Given the description of an element on the screen output the (x, y) to click on. 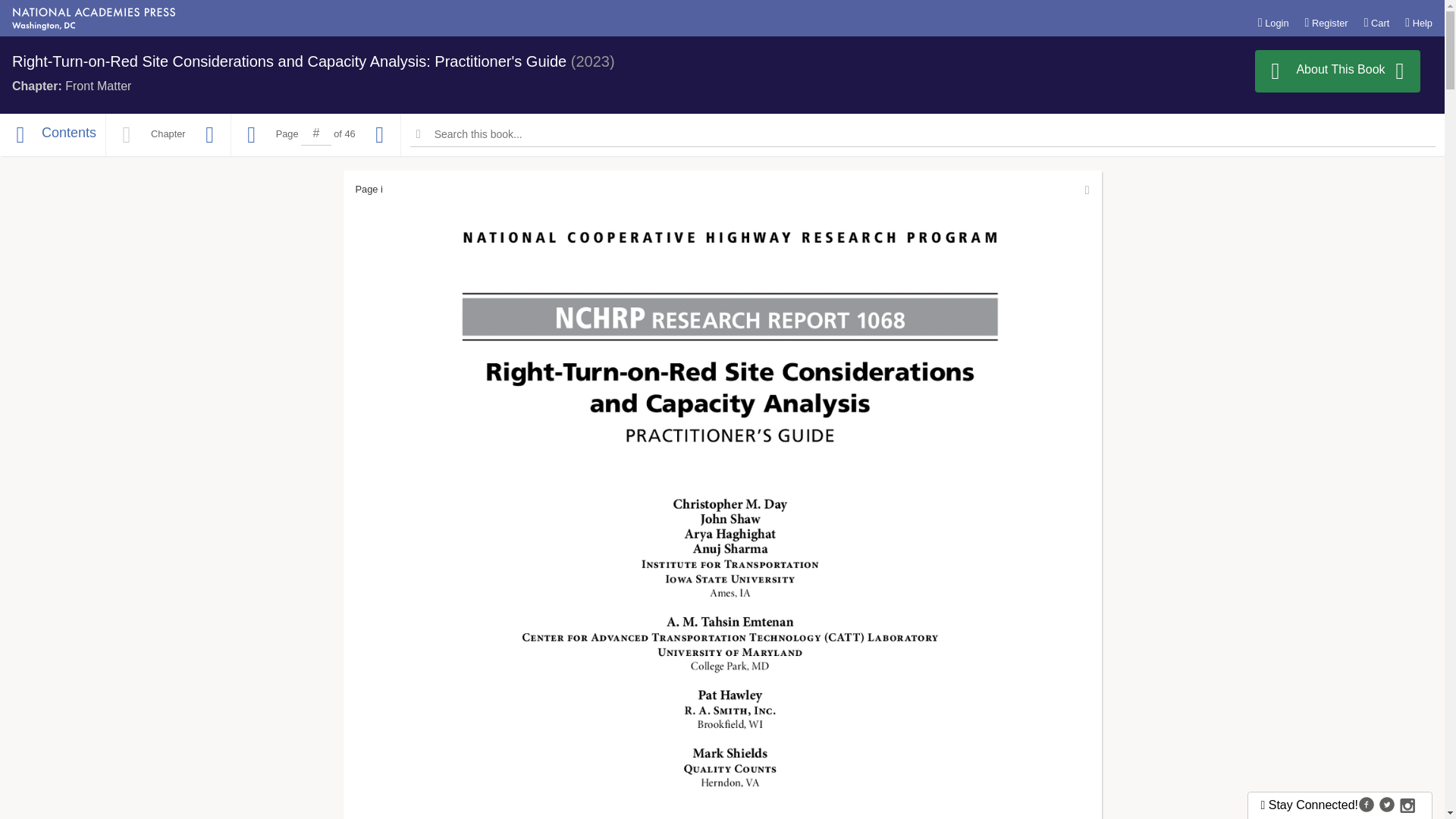
Previous Chapter (126, 134)
Login (1272, 22)
Next Page (379, 134)
Buy or download a copy of this book. (1338, 70)
Register (1326, 22)
Next Chapter (209, 134)
Help (1418, 22)
Previous Page (251, 134)
Cart (1377, 22)
